Given the description of an element on the screen output the (x, y) to click on. 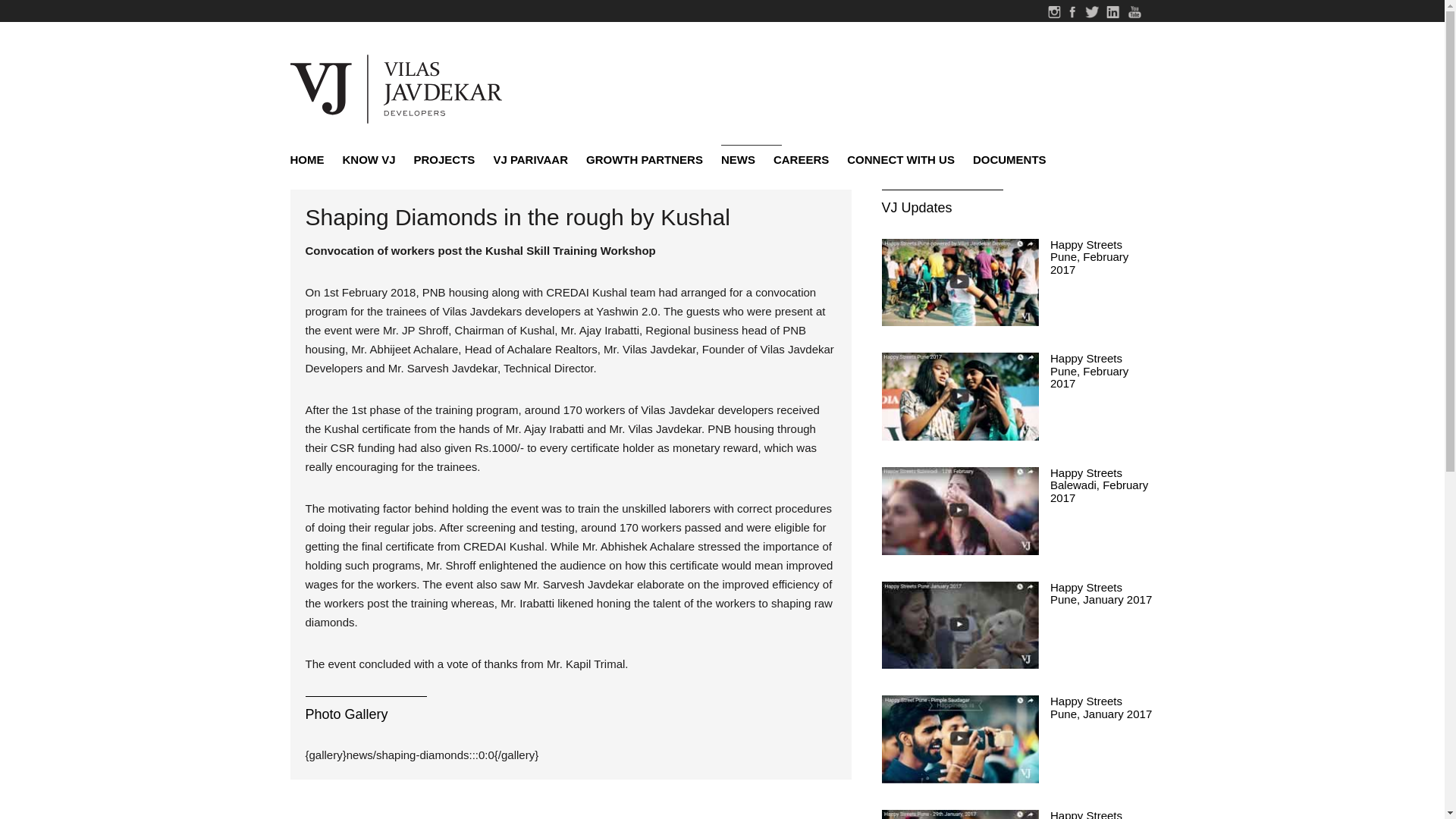
PROJECTS (444, 159)
HOME (311, 159)
KNOW VJ (368, 159)
